Given the description of an element on the screen output the (x, y) to click on. 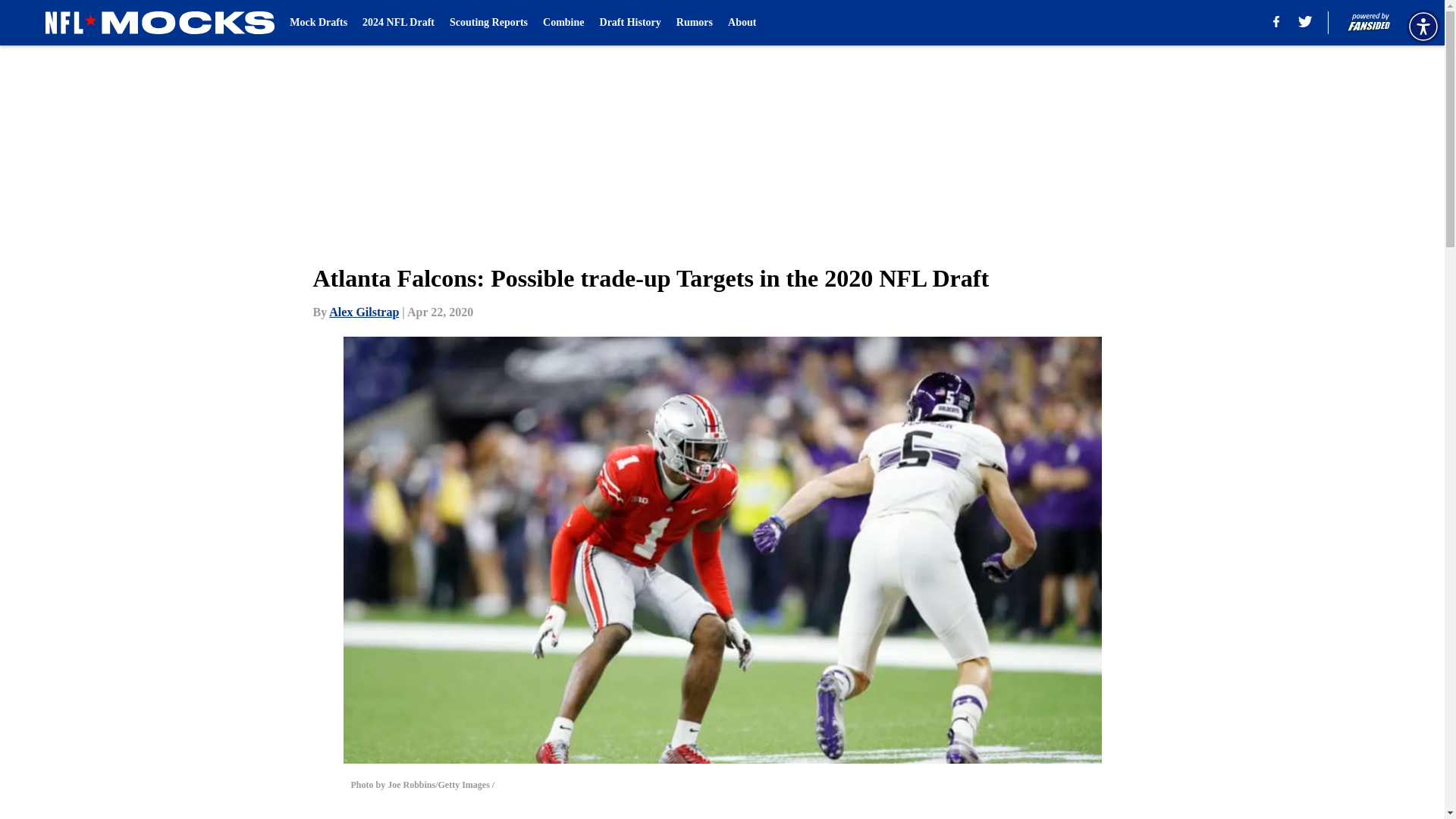
Scouting Reports (488, 22)
About (741, 22)
Draft History (630, 22)
Accessibility Menu (1422, 26)
Rumors (695, 22)
Alex Gilstrap (363, 311)
Mock Drafts (318, 22)
Combine (563, 22)
2024 NFL Draft (397, 22)
